Given the description of an element on the screen output the (x, y) to click on. 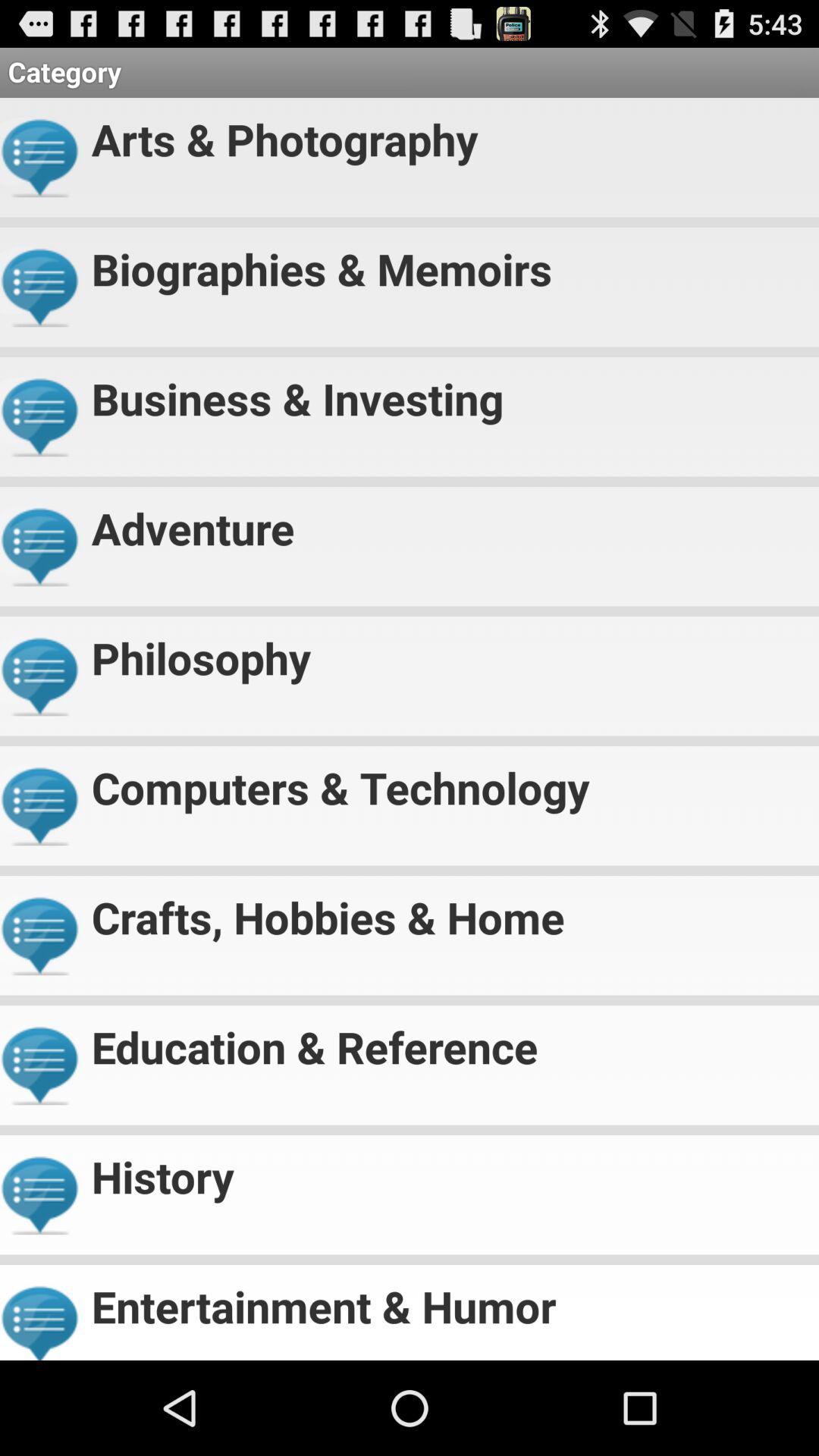
jump until adventure item (449, 521)
